Given the description of an element on the screen output the (x, y) to click on. 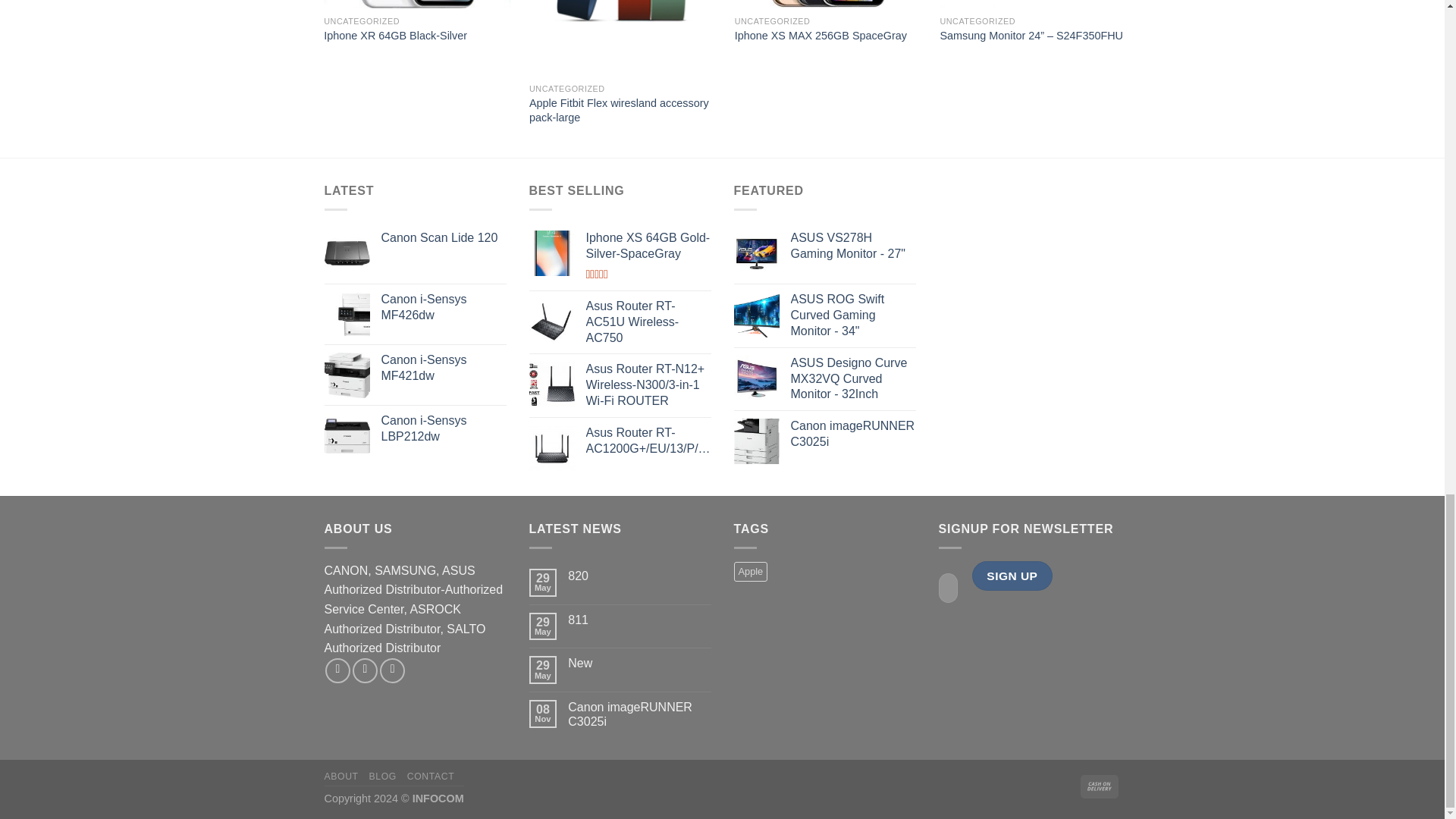
Sign Up (1012, 575)
